Given the description of an element on the screen output the (x, y) to click on. 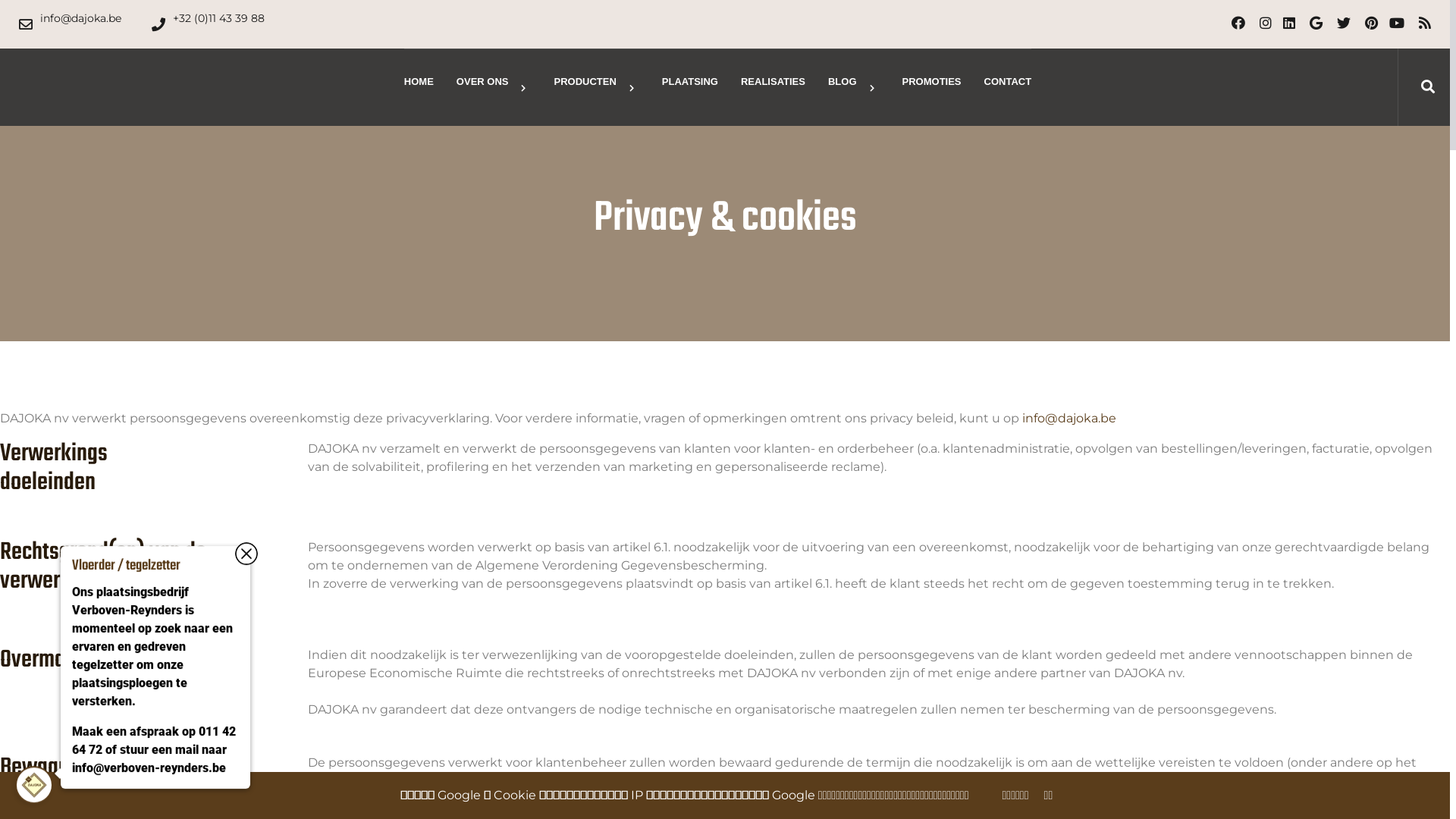
HOME Element type: text (418, 81)
PRODUCTEN Element type: text (595, 87)
+32 (0)11 43 39 88 Element type: text (207, 24)
CONTACT Element type: text (1008, 81)
OVER ONS Element type: text (493, 87)
PLAATSING Element type: text (690, 81)
REALISATIES Element type: text (772, 81)
BLOG Element type: text (853, 87)
info@dajoka.be Element type: text (69, 24)
info@dajoka.be Element type: text (1069, 418)
PROMOTIES Element type: text (931, 81)
